Given the description of an element on the screen output the (x, y) to click on. 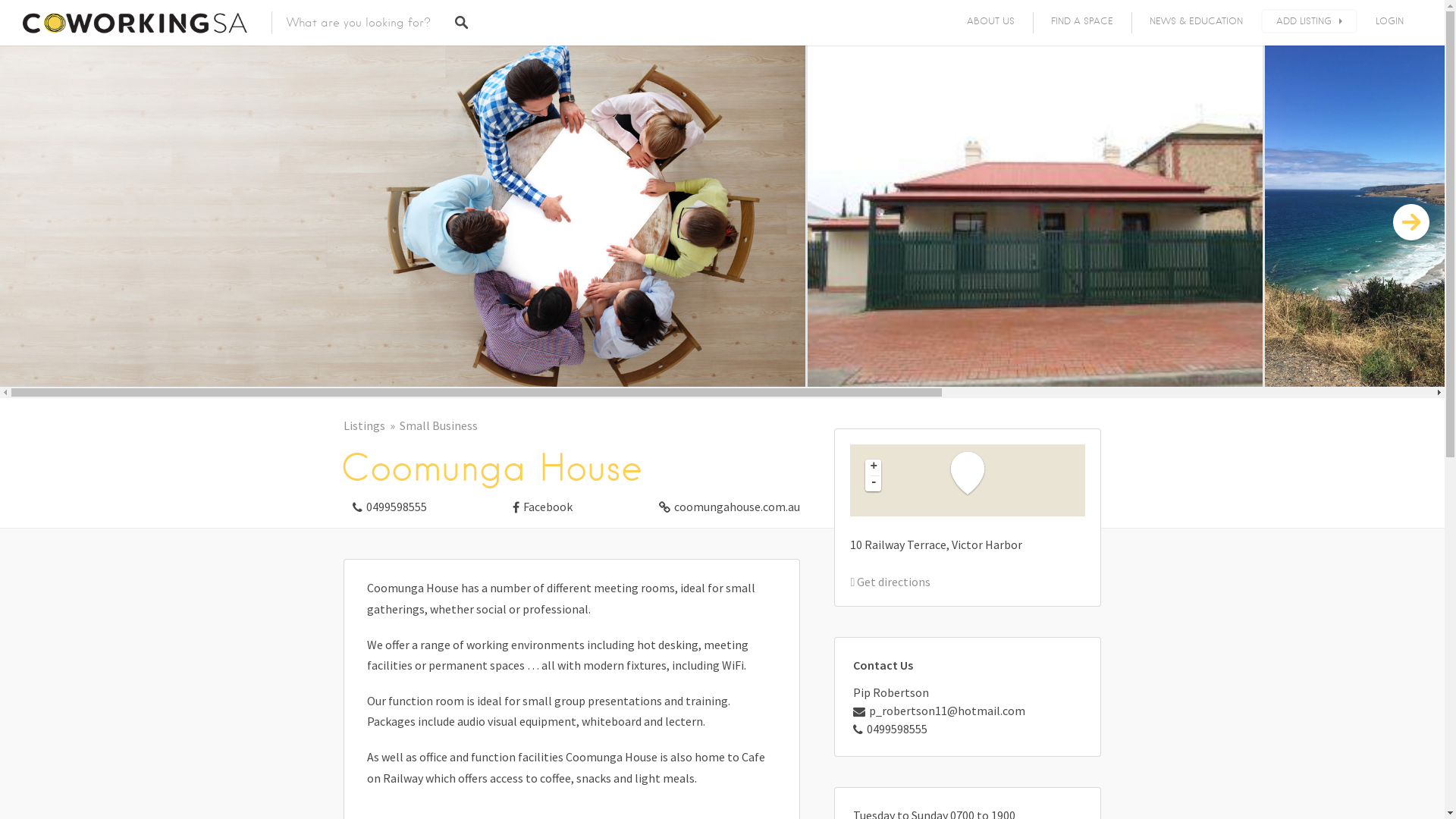
ADD LISTING Element type: text (1308, 20)
FIND A SPACE Element type: text (1081, 21)
Listings Element type: text (370, 425)
LOGIN Element type: text (1389, 21)
p_robertson11@hotmail.com Element type: text (939, 710)
ABOUT US Element type: text (990, 21)
0499598555 Element type: text (384, 504)
- Element type: text (873, 483)
Get directions Element type: text (890, 581)
coomungahouse.com.au Element type: text (724, 504)
+ Element type: text (873, 467)
Facebook Element type: text (537, 504)
0499598555 Element type: text (890, 728)
Small Business Element type: text (437, 425)
NEWS & EDUCATION Element type: text (1196, 21)
